Given the description of an element on the screen output the (x, y) to click on. 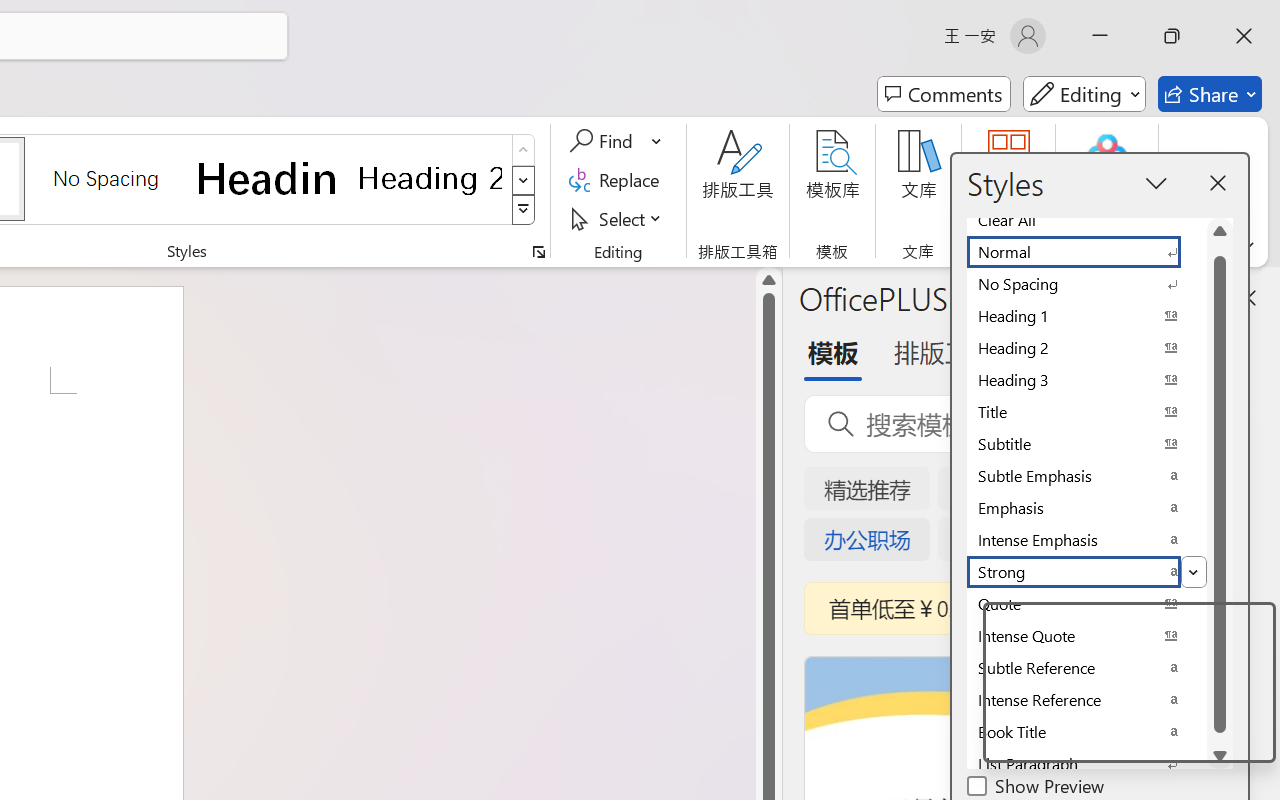
Emphasis (1086, 508)
Styles (523, 209)
Intense Reference (1086, 700)
Intense Quote (1086, 636)
Clear All (1086, 220)
Replace... (617, 179)
